Given the description of an element on the screen output the (x, y) to click on. 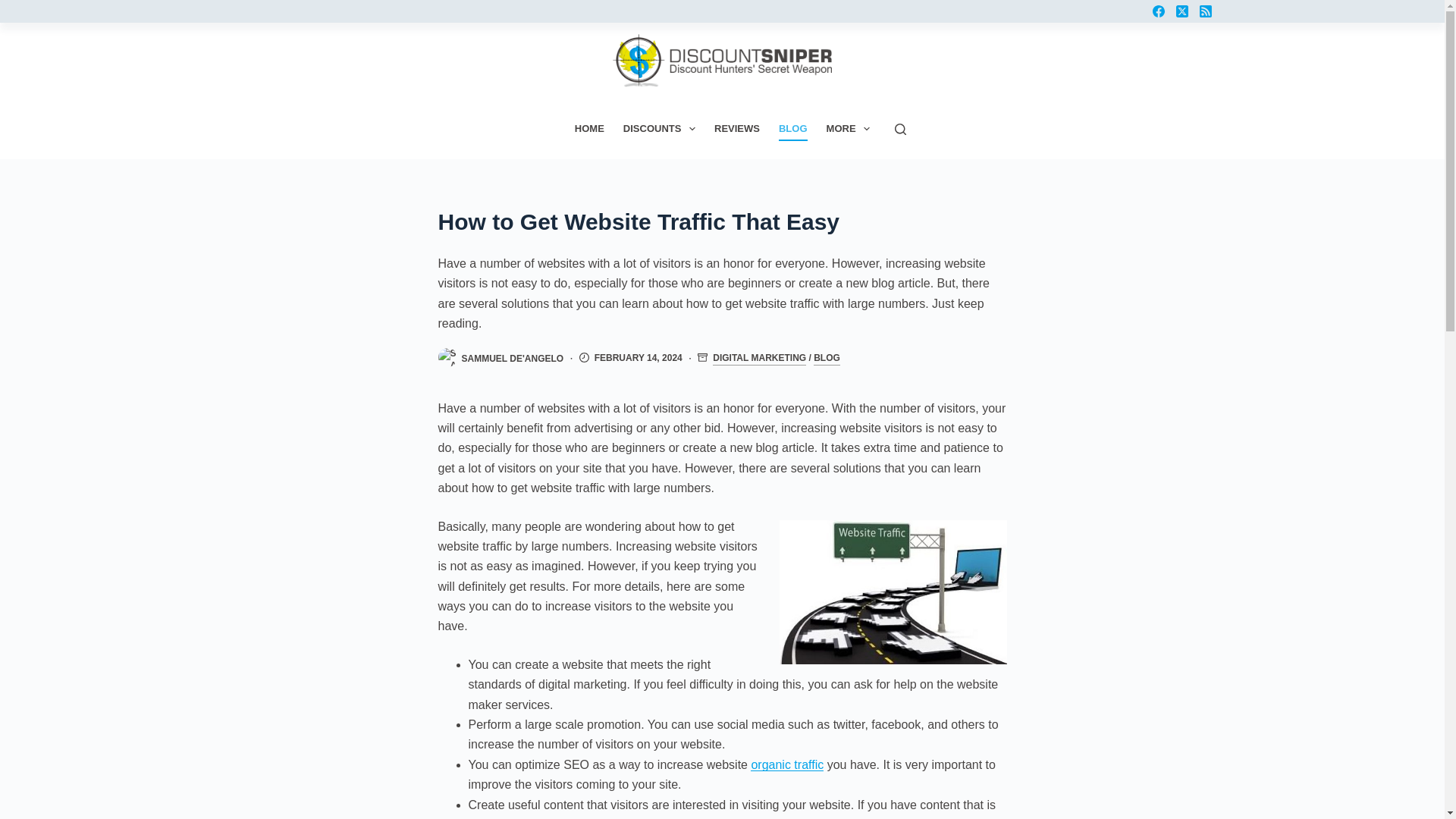
DISCOUNTS (658, 128)
BLOG (792, 128)
HOME (588, 128)
Skip to content (15, 7)
REVIEWS (737, 128)
Posts by Sammuel De'Angelo (512, 357)
How to Get Website Traffic That Easy 1 (892, 592)
MORE (847, 128)
How to Get Website Traffic That Easy (722, 221)
